Given the description of an element on the screen output the (x, y) to click on. 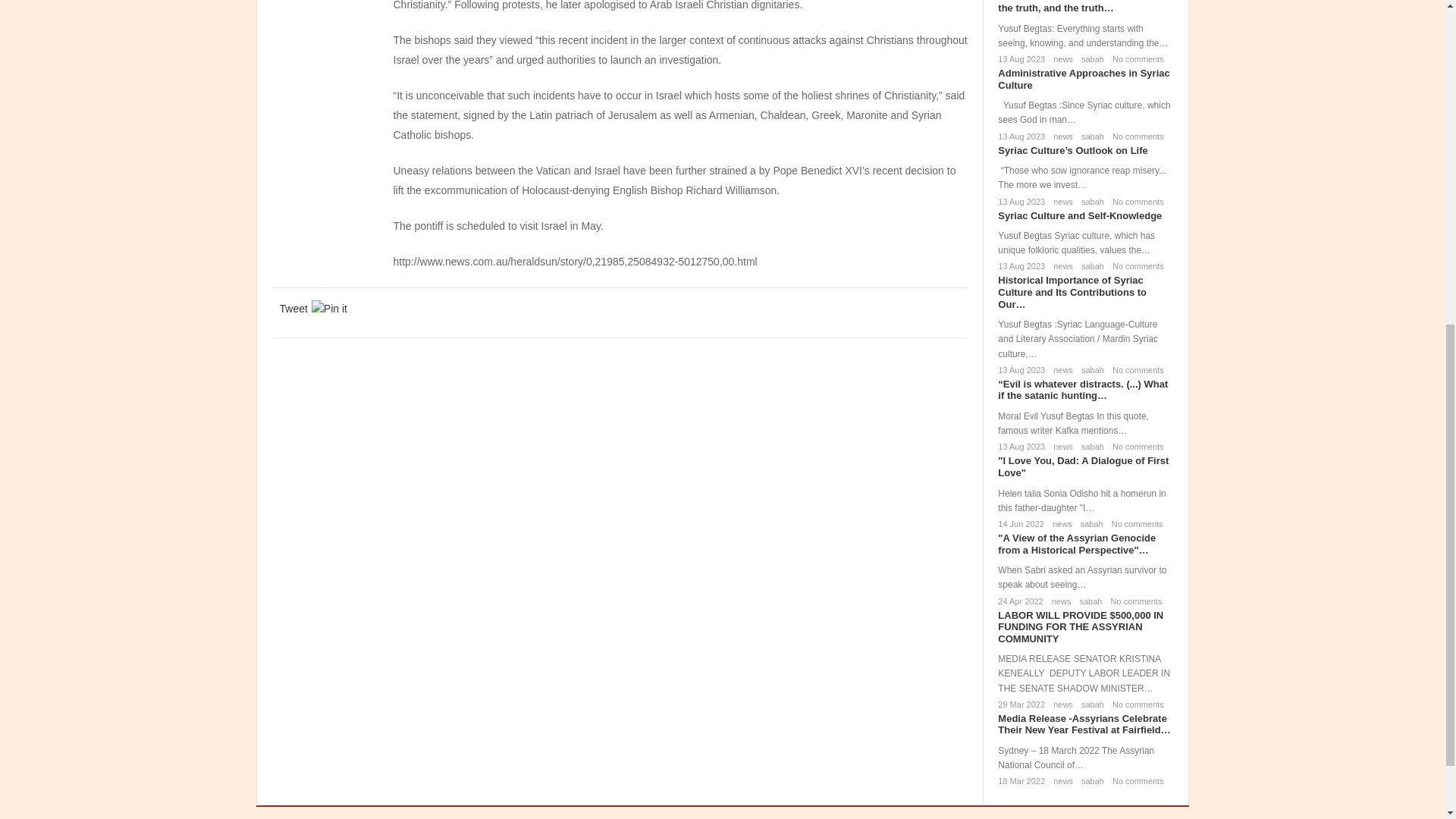
Pin it (329, 308)
I Love You, Dad: A Dialogue of First Love (1083, 466)
Tweet (293, 308)
Administrative Approaches in Syriac Culture (1083, 78)
